Given the description of an element on the screen output the (x, y) to click on. 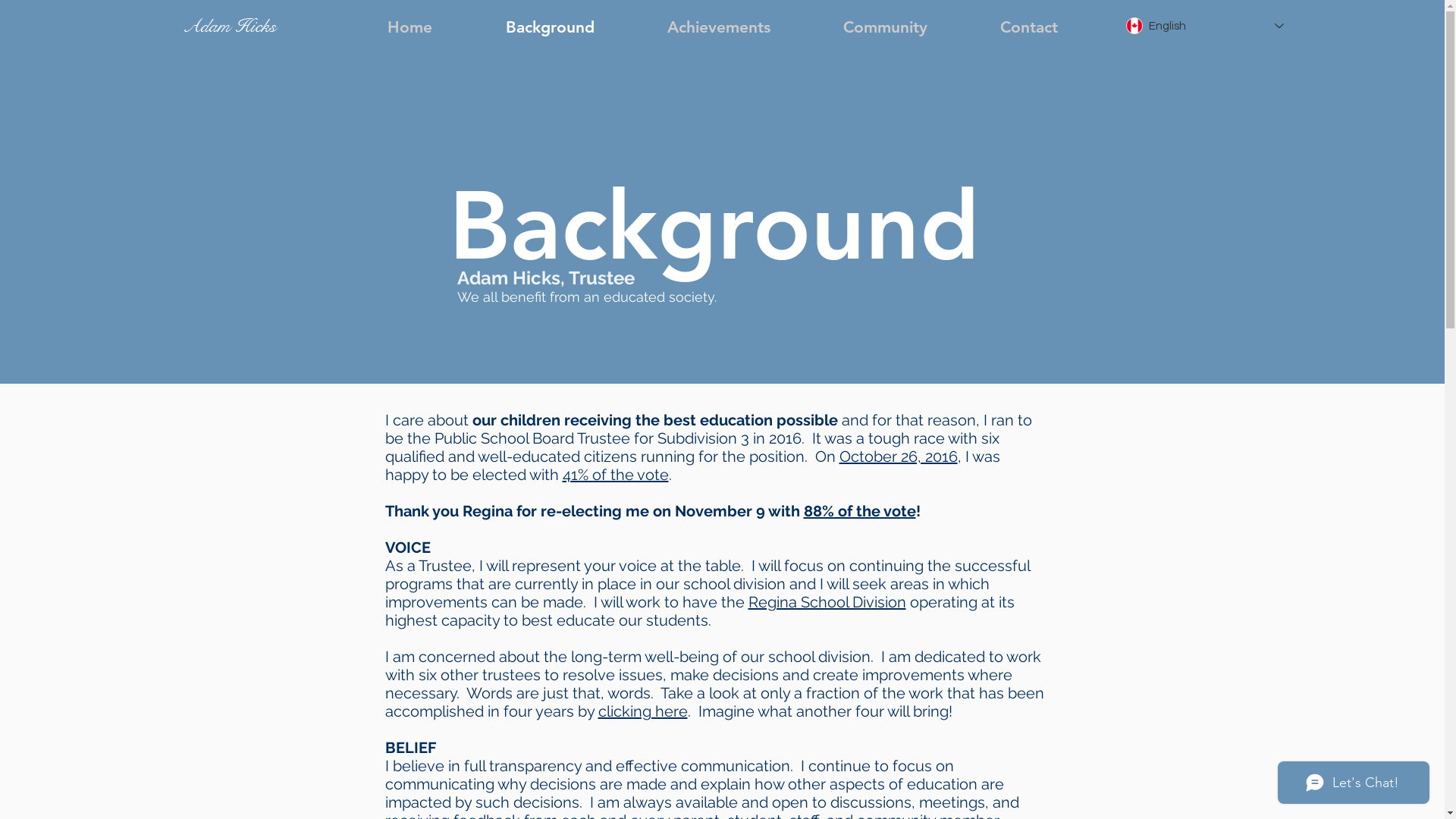
October 26, 2016 Element type: text (897, 456)
41% of the vote Element type: text (615, 474)
Contact Element type: text (1028, 26)
Community Element type: text (884, 26)
Background Element type: text (549, 26)
clicking here Element type: text (642, 711)
Achievements Element type: text (718, 26)
88% of the vote Element type: text (859, 511)
Regina School Division Element type: text (826, 602)
Home Element type: text (409, 26)
